Given the description of an element on the screen output the (x, y) to click on. 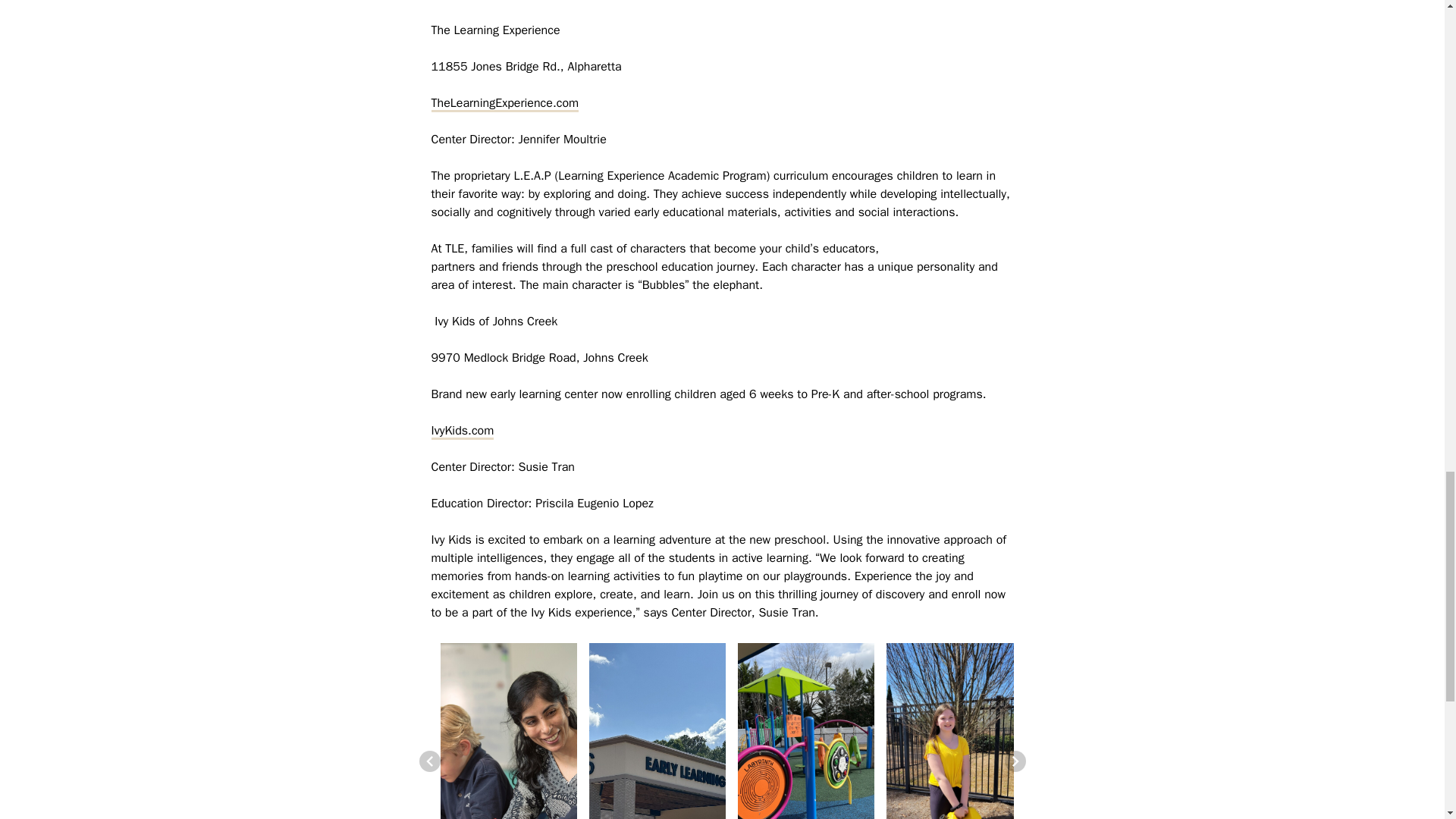
TheLearningExperience.com (504, 103)
IvyKids.com (461, 430)
